Given the description of an element on the screen output the (x, y) to click on. 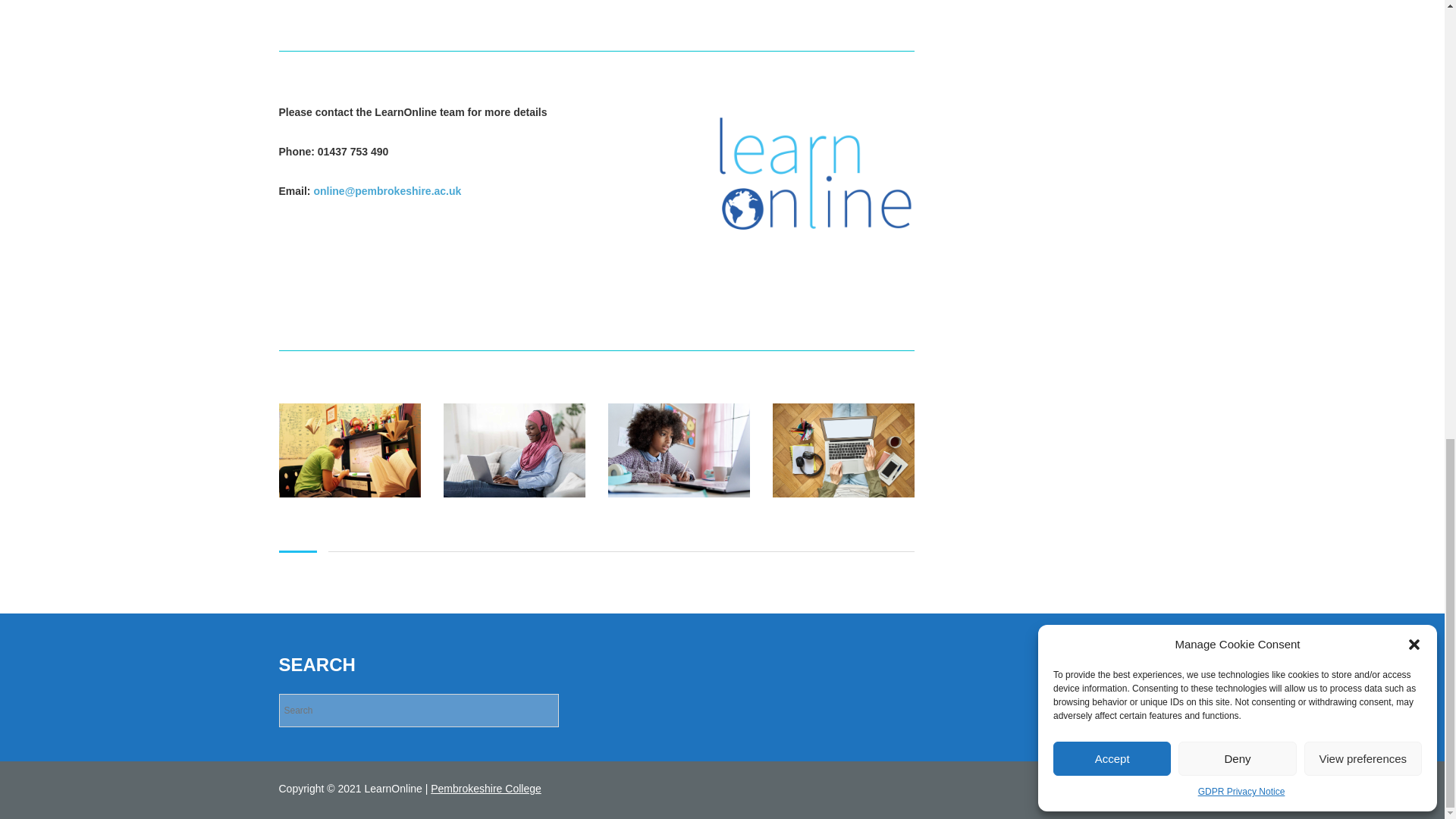
A-levels-2021 (513, 450)
LearnOnline Exams (349, 450)
LearnOnline logo (815, 173)
Choose your IGCSEs (678, 450)
